Given the description of an element on the screen output the (x, y) to click on. 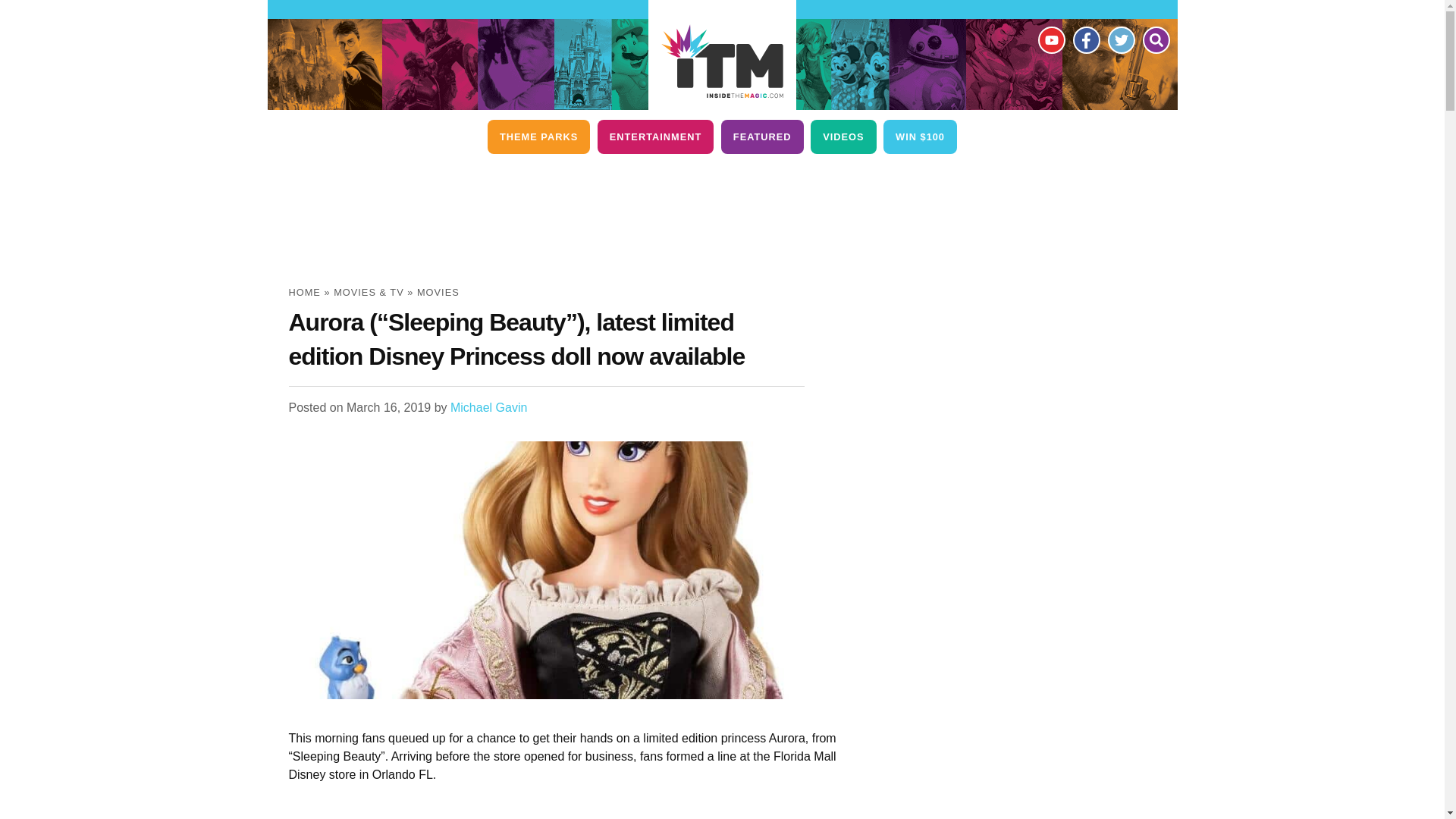
THEME PARKS (538, 136)
ENTERTAINMENT (655, 136)
Facebook (1085, 40)
Search (1155, 40)
YouTube (1050, 40)
FEATURED (761, 136)
Twitter (1120, 40)
